Given the description of an element on the screen output the (x, y) to click on. 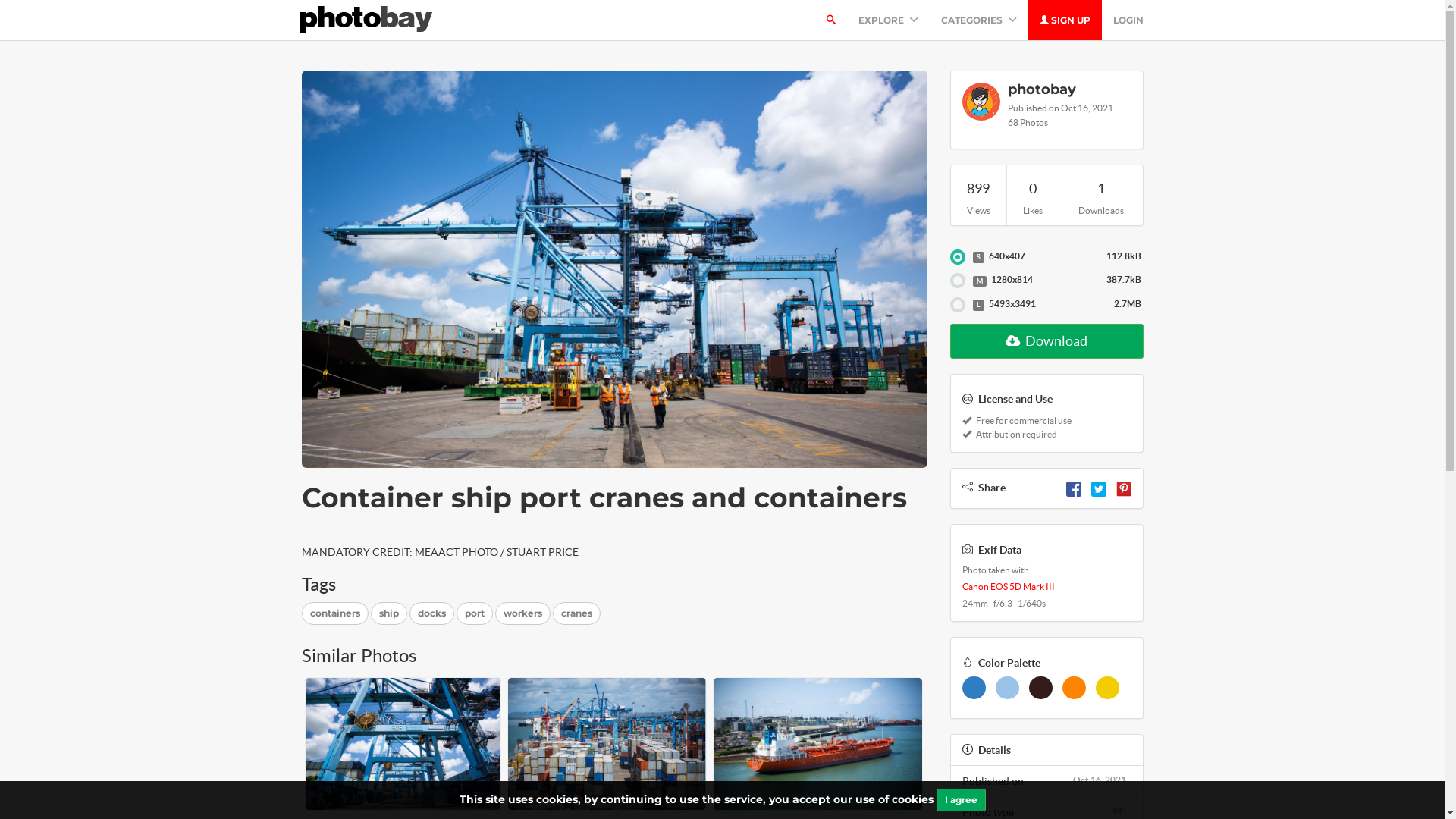
docks Element type: text (431, 613)
EXPLORE Element type: text (887, 20)
I agree Element type: text (960, 799)
LOGIN Element type: text (1127, 20)
cranes Element type: text (575, 613)
SIGN UP Element type: text (1064, 20)
Twitter Element type: hover (1097, 487)
Facebook Element type: hover (1073, 487)
containers Element type: text (334, 613)
Canon EOS 5D Mark III Element type: text (1007, 586)
ship Element type: text (388, 613)
CATEGORIES Element type: text (978, 20)
Pinterest Element type: hover (1123, 487)
photobay Element type: text (1068, 89)
port Element type: text (474, 613)
workers Element type: text (521, 613)
Download Element type: text (1045, 340)
